Given the description of an element on the screen output the (x, y) to click on. 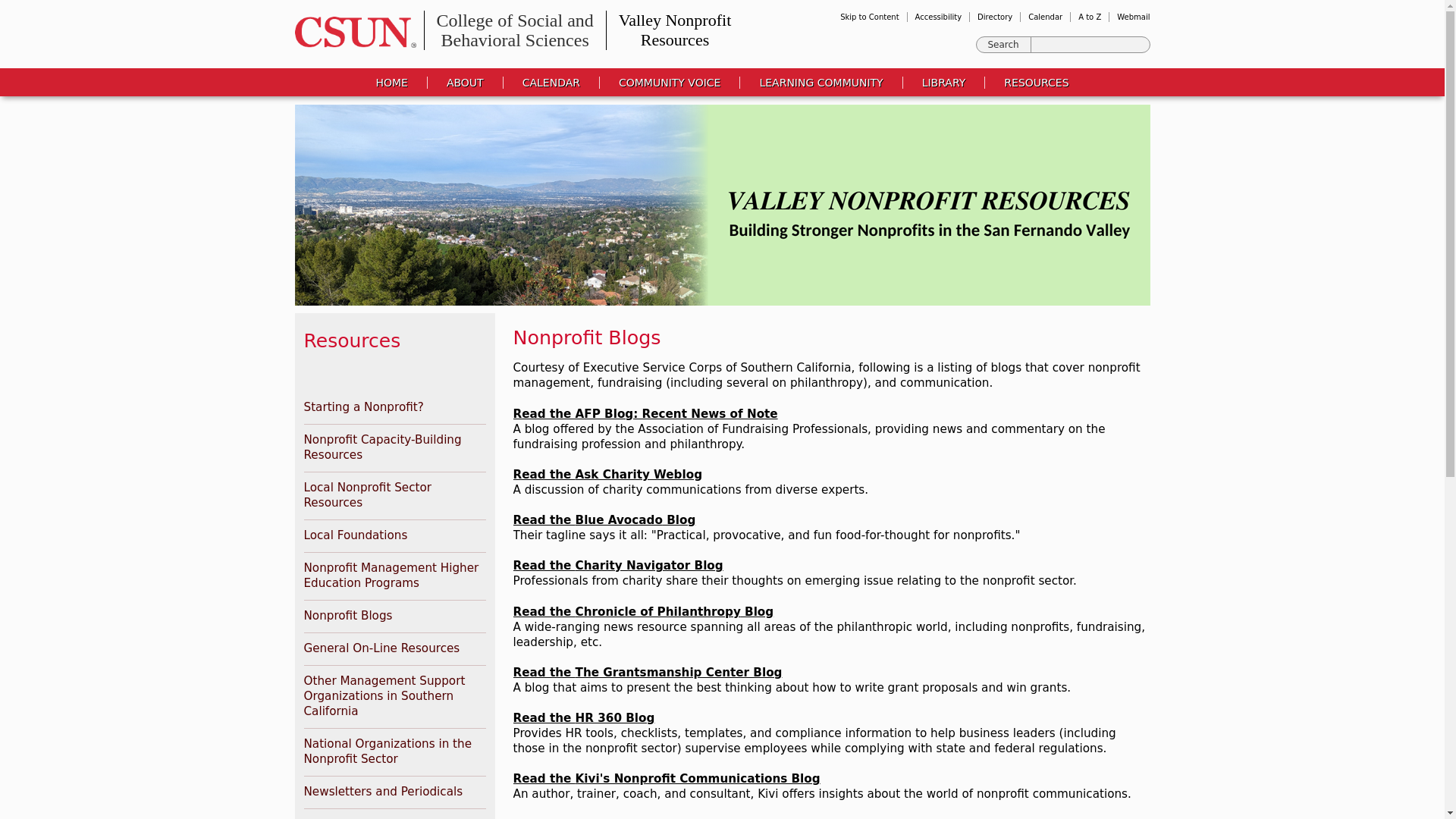
Policy information and events (669, 81)
Read the Kivi's Nonprofit Communications Blog (665, 778)
LEARNING COMMUNITY (820, 81)
Read the Blue Avocado Blog (603, 520)
California State University, Northridge - Home (349, 31)
Read the Chronicle of Philanthropy Blog (642, 612)
VNR and community resources (1036, 81)
A to Z (668, 29)
Webmail (1089, 16)
Directory (1133, 16)
Free Downloadable Documents (993, 16)
LIBRARY (943, 81)
COMMUNITY VOICE (943, 81)
Search (669, 81)
